Given the description of an element on the screen output the (x, y) to click on. 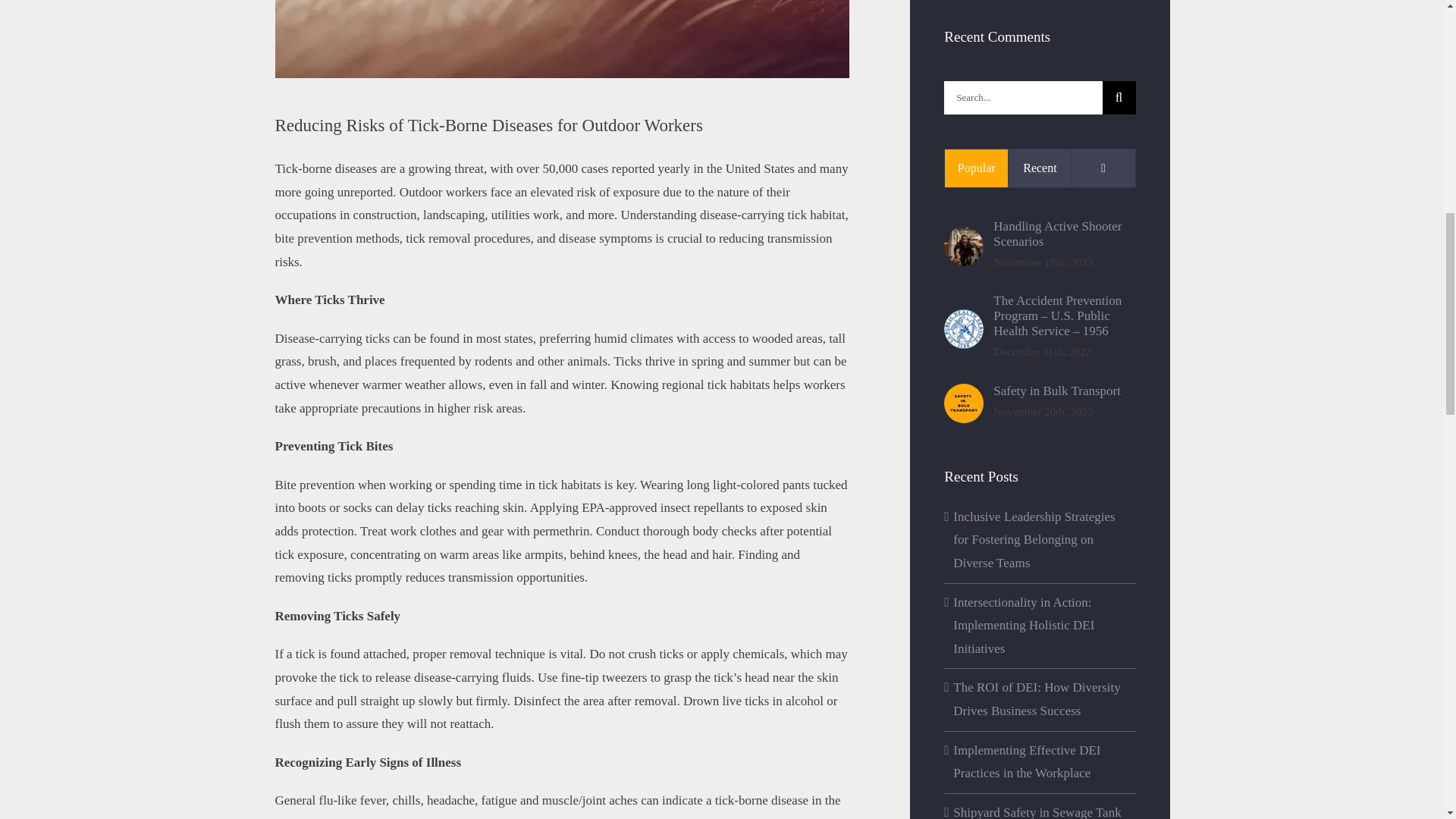
Reducing Risks of Tick-Borne Diseases for Outdoor Workers (561, 38)
